Given the description of an element on the screen output the (x, y) to click on. 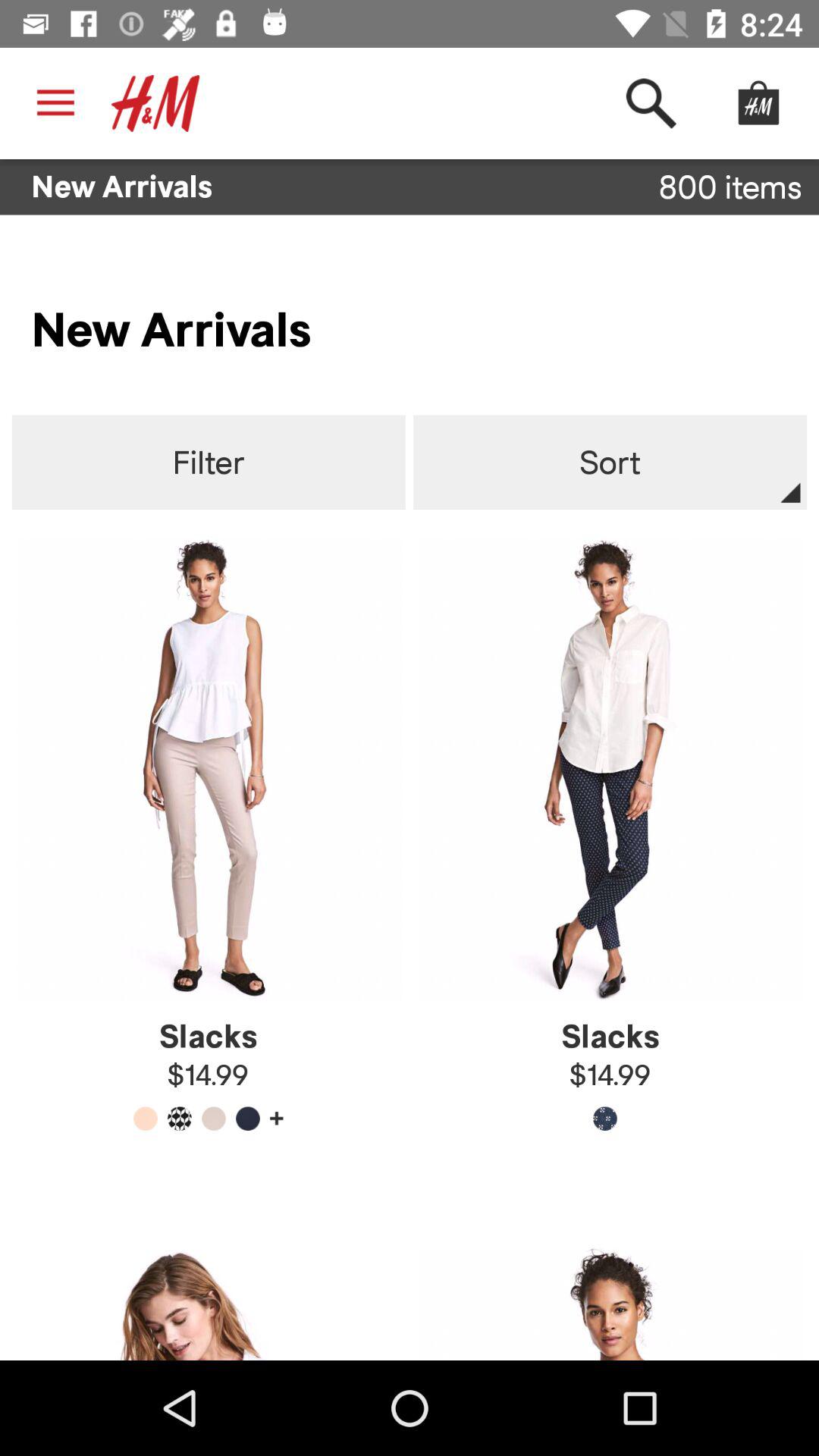
select the filter (208, 462)
